Given the description of an element on the screen output the (x, y) to click on. 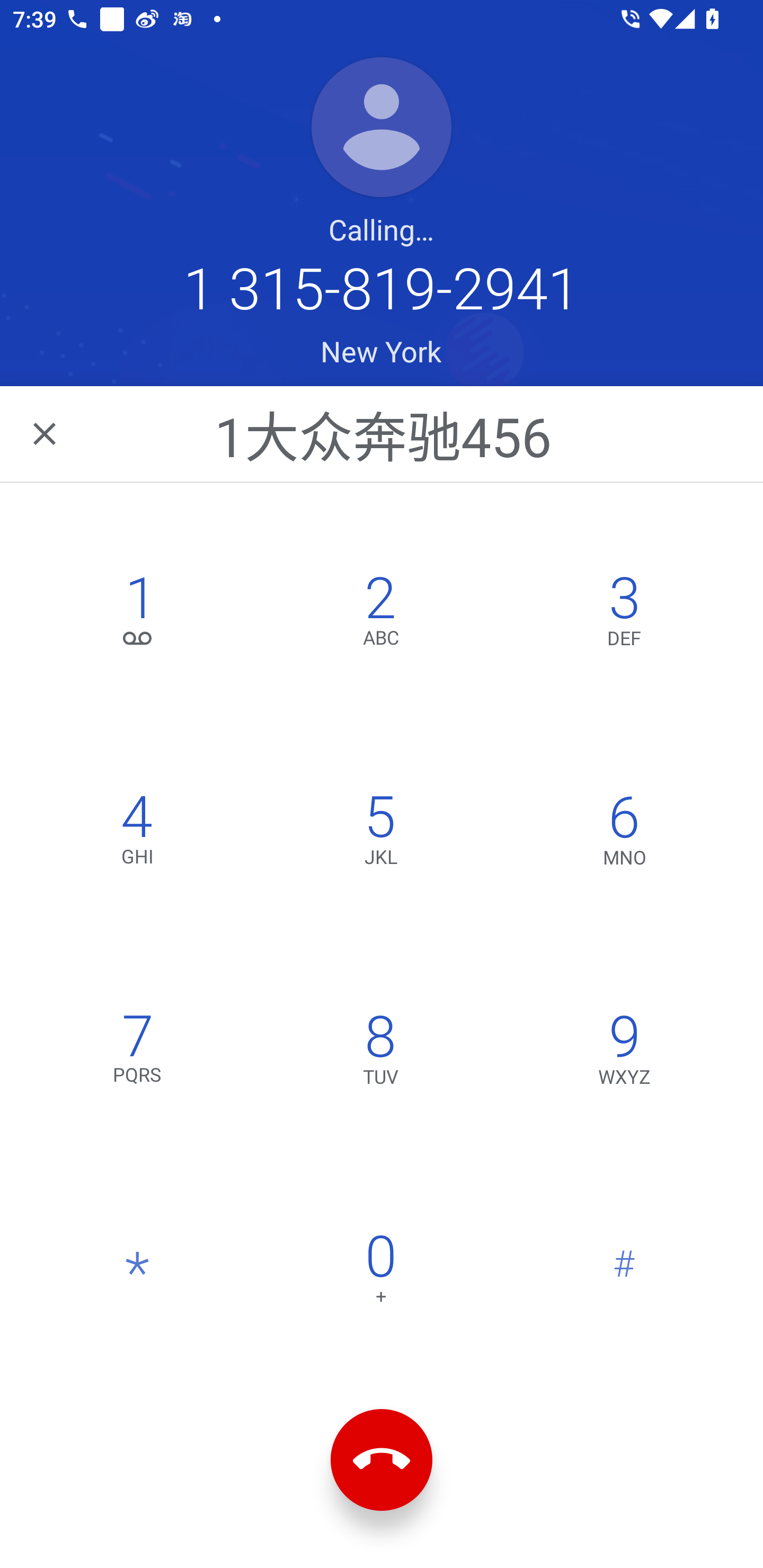
1大众奔驰456 (382, 433)
Navigate back (45, 433)
1, 1 (137, 614)
2,ABC 2 ABC (380, 614)
3,DEF 3 DEF (624, 614)
4,GHI 4 GHI (137, 833)
5,JKL 5 JKL (380, 833)
6,MNO 6 MNO (624, 833)
7,PQRS 7 PQRS (137, 1053)
8,TUV 8 TUV (380, 1053)
9,WXYZ 9 WXYZ (624, 1053)
* (137, 1272)
0 0 + (380, 1272)
# (624, 1272)
End call (381, 1460)
